Given the description of an element on the screen output the (x, y) to click on. 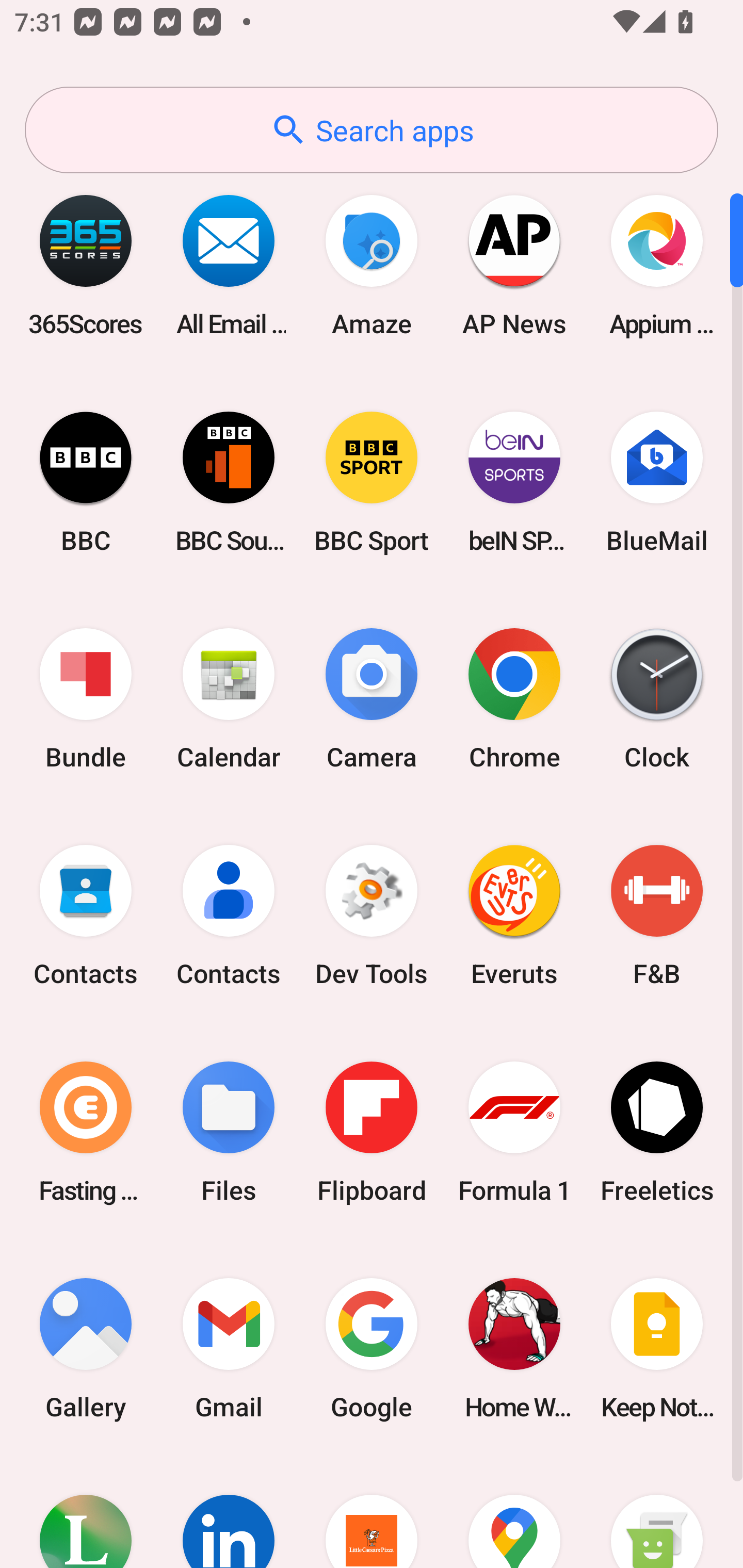
  Search apps (371, 130)
365Scores (85, 264)
All Email Connect (228, 264)
Amaze (371, 264)
AP News (514, 264)
Appium Settings (656, 264)
BBC (85, 482)
BBC Sounds (228, 482)
BBC Sport (371, 482)
beIN SPORTS (514, 482)
BlueMail (656, 482)
Bundle (85, 699)
Calendar (228, 699)
Camera (371, 699)
Chrome (514, 699)
Clock (656, 699)
Contacts (85, 915)
Contacts (228, 915)
Dev Tools (371, 915)
Everuts (514, 915)
F&B (656, 915)
Fasting Coach (85, 1131)
Files (228, 1131)
Flipboard (371, 1131)
Formula 1 (514, 1131)
Freeletics (656, 1131)
Gallery (85, 1348)
Gmail (228, 1348)
Google (371, 1348)
Home Workout (514, 1348)
Keep Notes (656, 1348)
Lifesum (85, 1512)
LinkedIn (228, 1512)
Little Caesars Pizza (371, 1512)
Maps (514, 1512)
Messaging (656, 1512)
